Given the description of an element on the screen output the (x, y) to click on. 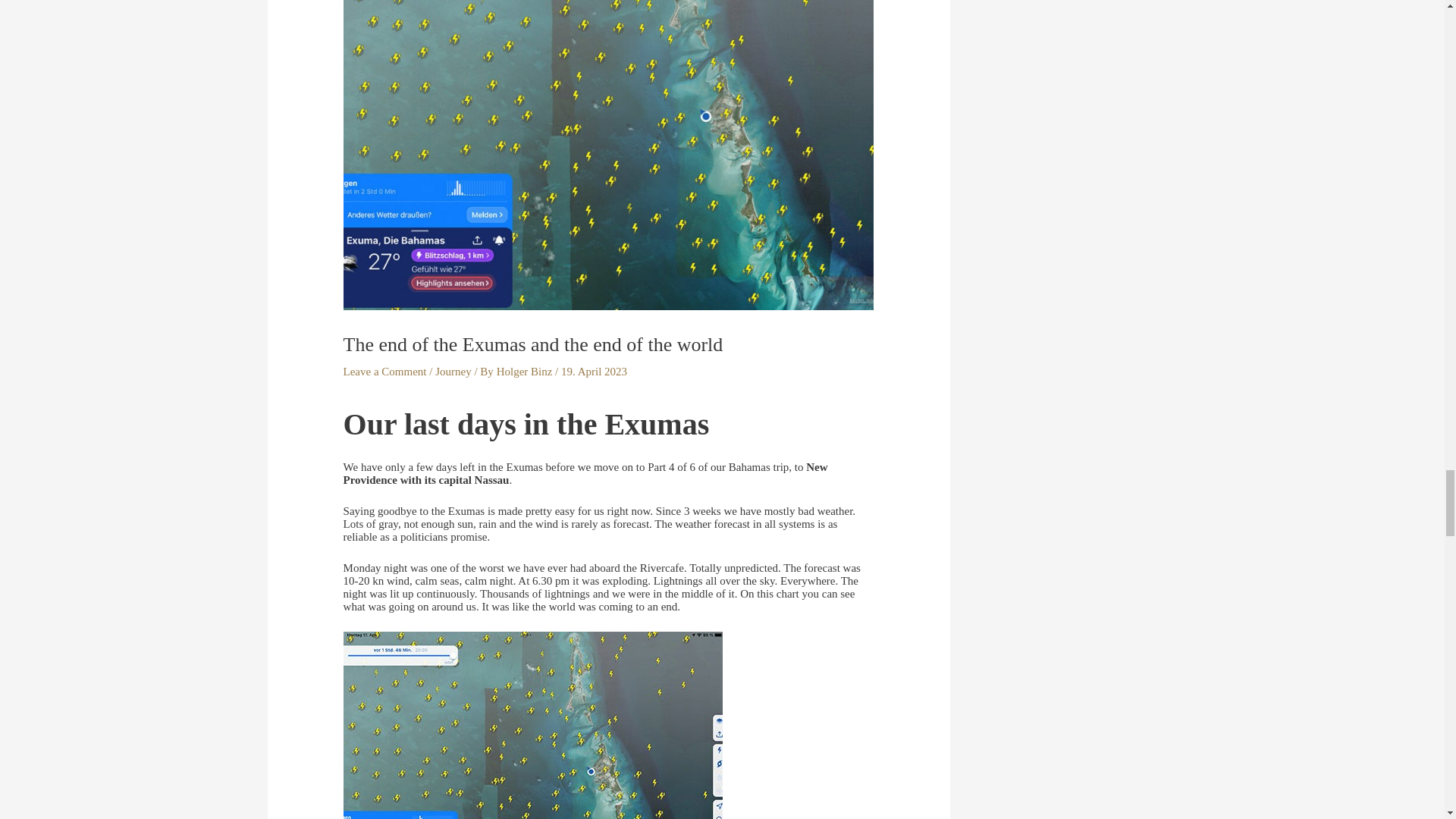
Journey (453, 371)
Leave a Comment (384, 371)
View all posts by Holger Binz (525, 371)
Holger Binz (525, 371)
